Given the description of an element on the screen output the (x, y) to click on. 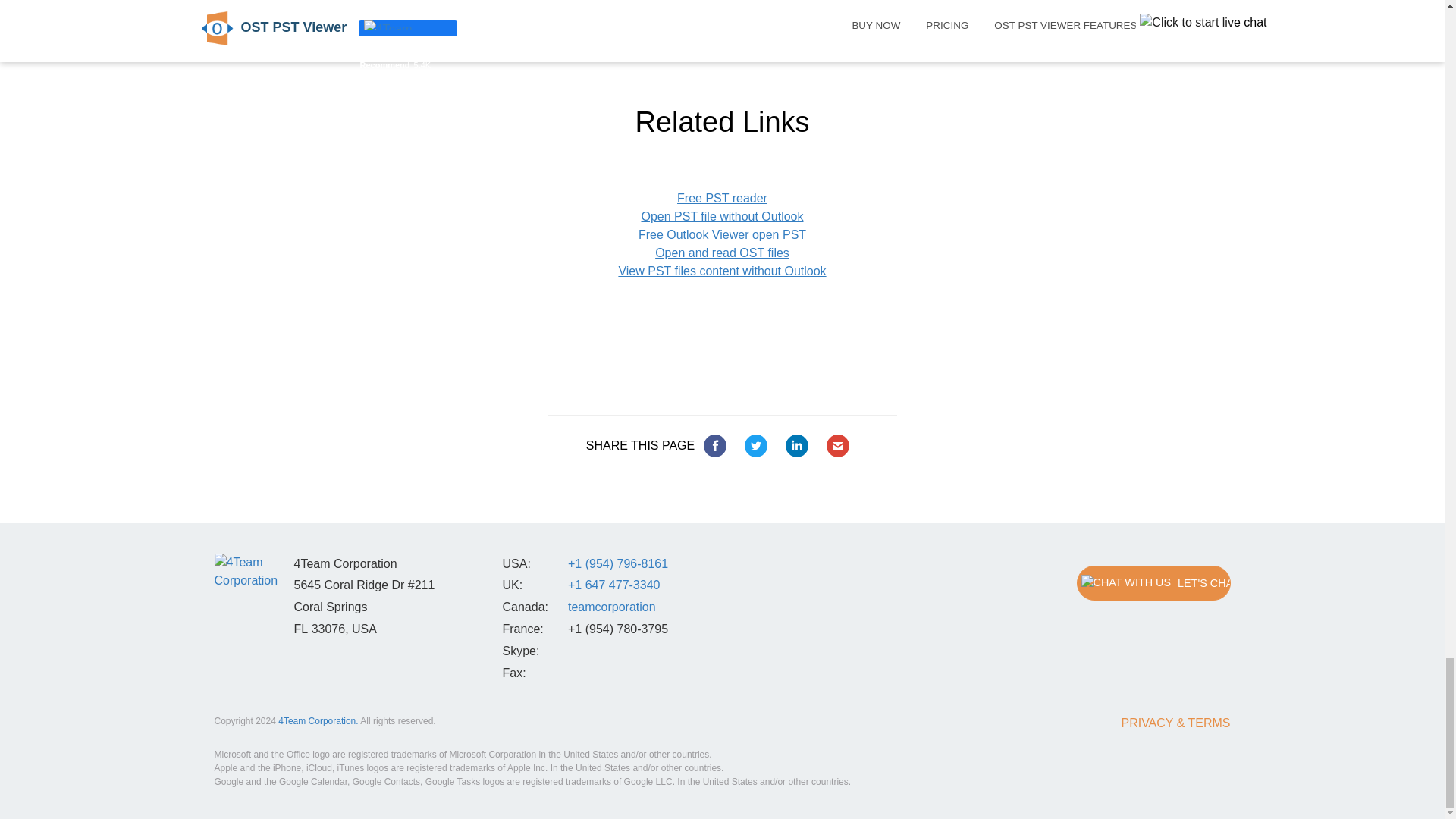
Free Outlook Viewer open PST (722, 234)
Open and read OST files (722, 252)
Free PST reader (722, 197)
4Team Corporation. (318, 720)
View PST files content without Outlook (721, 270)
teamcorporation (611, 606)
Open PST file without Outlook (721, 215)
LET'S CHAT (1153, 583)
